Given the description of an element on the screen output the (x, y) to click on. 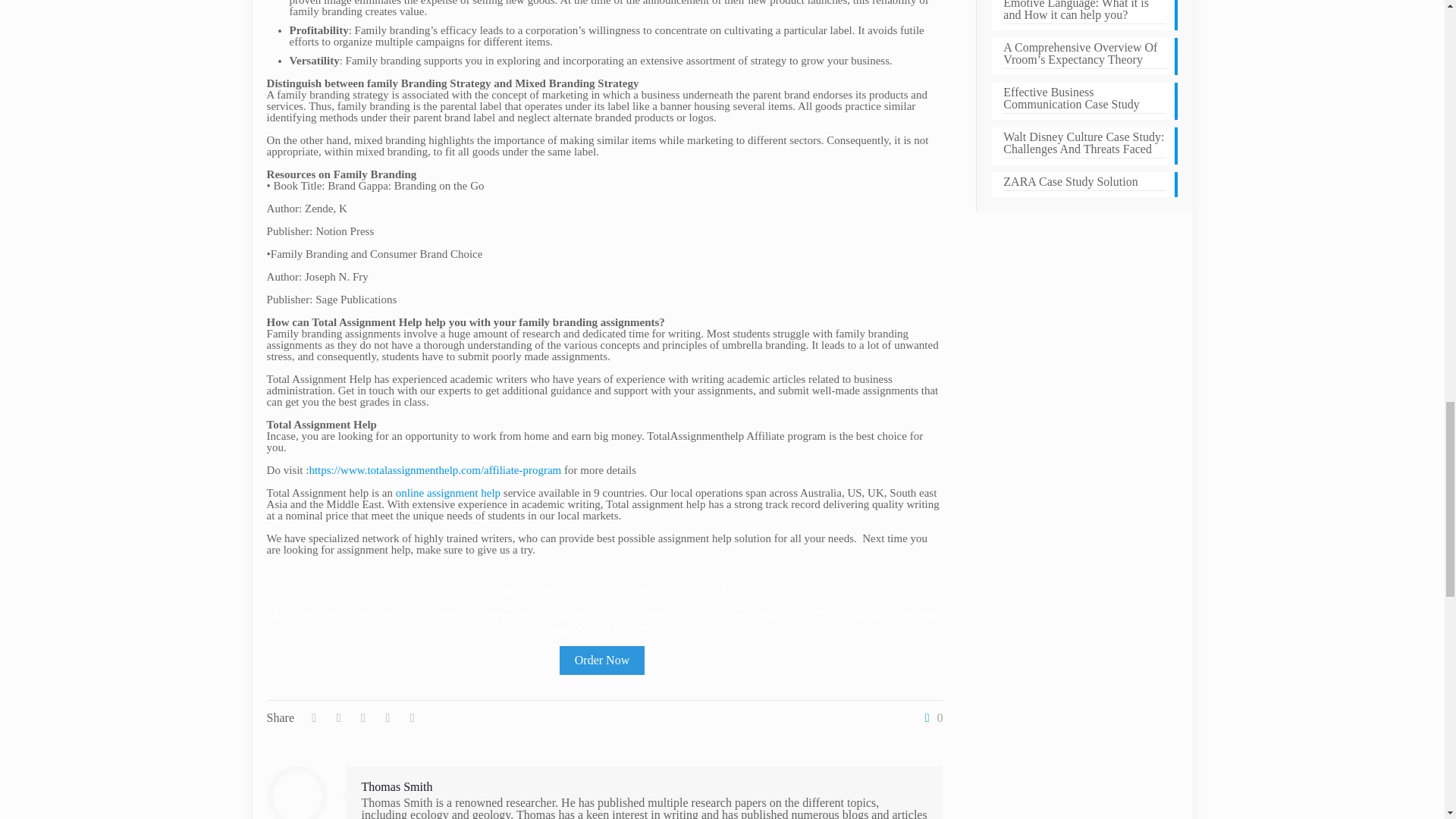
0 (930, 717)
Thomas Smith (396, 786)
Order Now (602, 660)
online assignment help (448, 492)
